Given the description of an element on the screen output the (x, y) to click on. 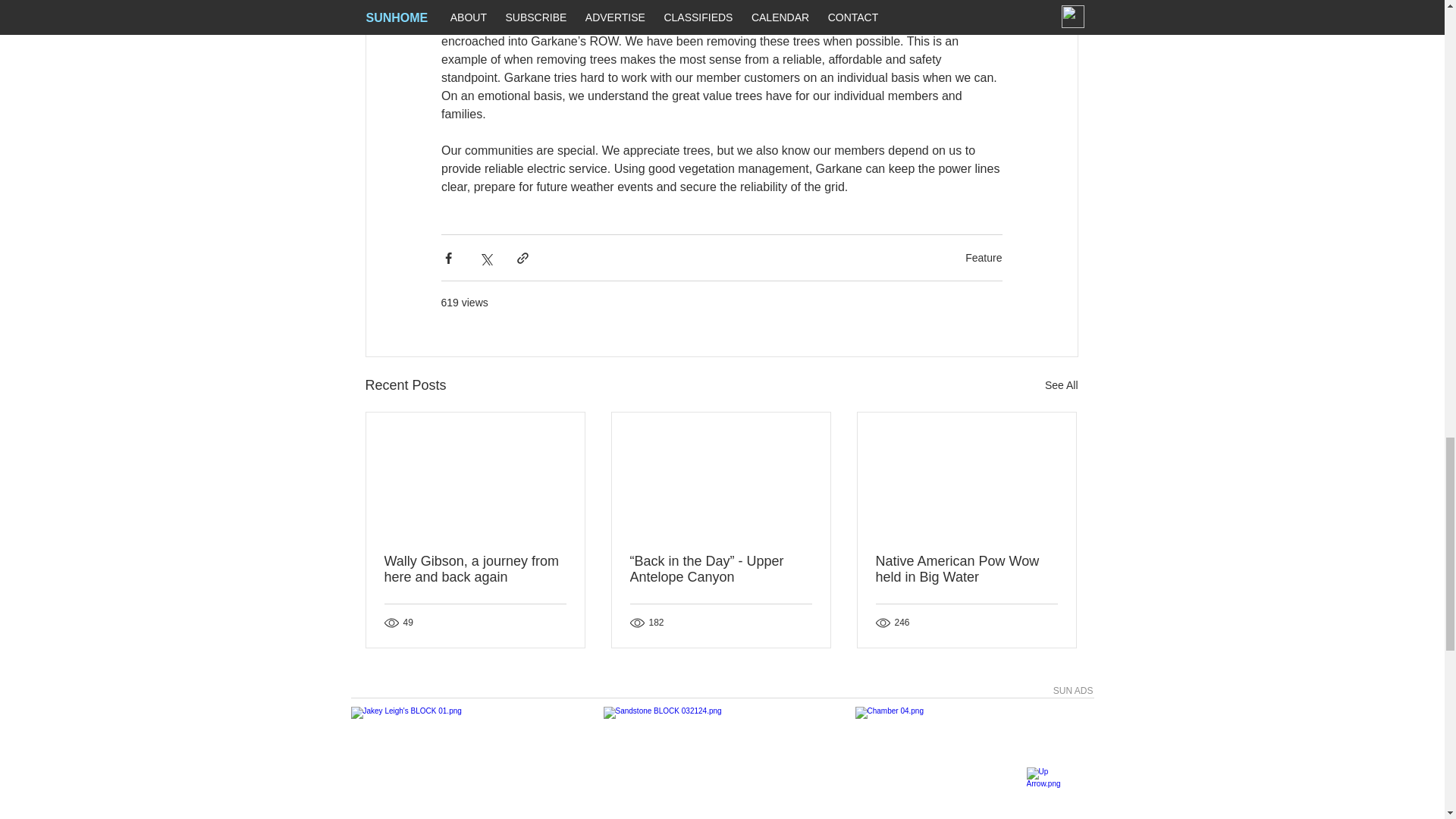
See All (1061, 385)
Native American Pow Wow held in Big Water (966, 569)
Feature (983, 257)
Wally Gibson, a journey from here and back again (475, 569)
